Given the description of an element on the screen output the (x, y) to click on. 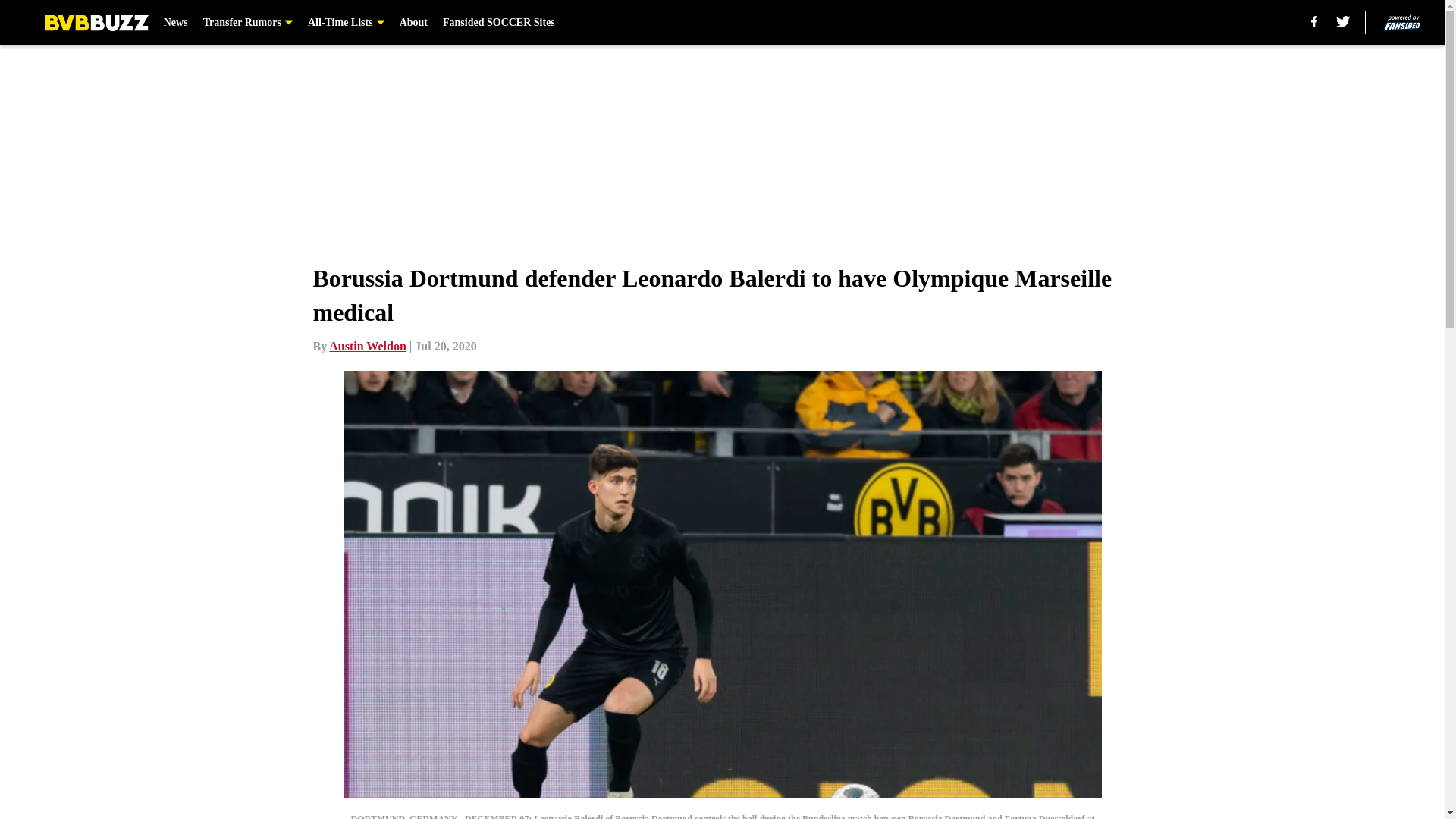
Fansided SOCCER Sites (498, 22)
News (175, 22)
Austin Weldon (367, 345)
About (413, 22)
